Given the description of an element on the screen output the (x, y) to click on. 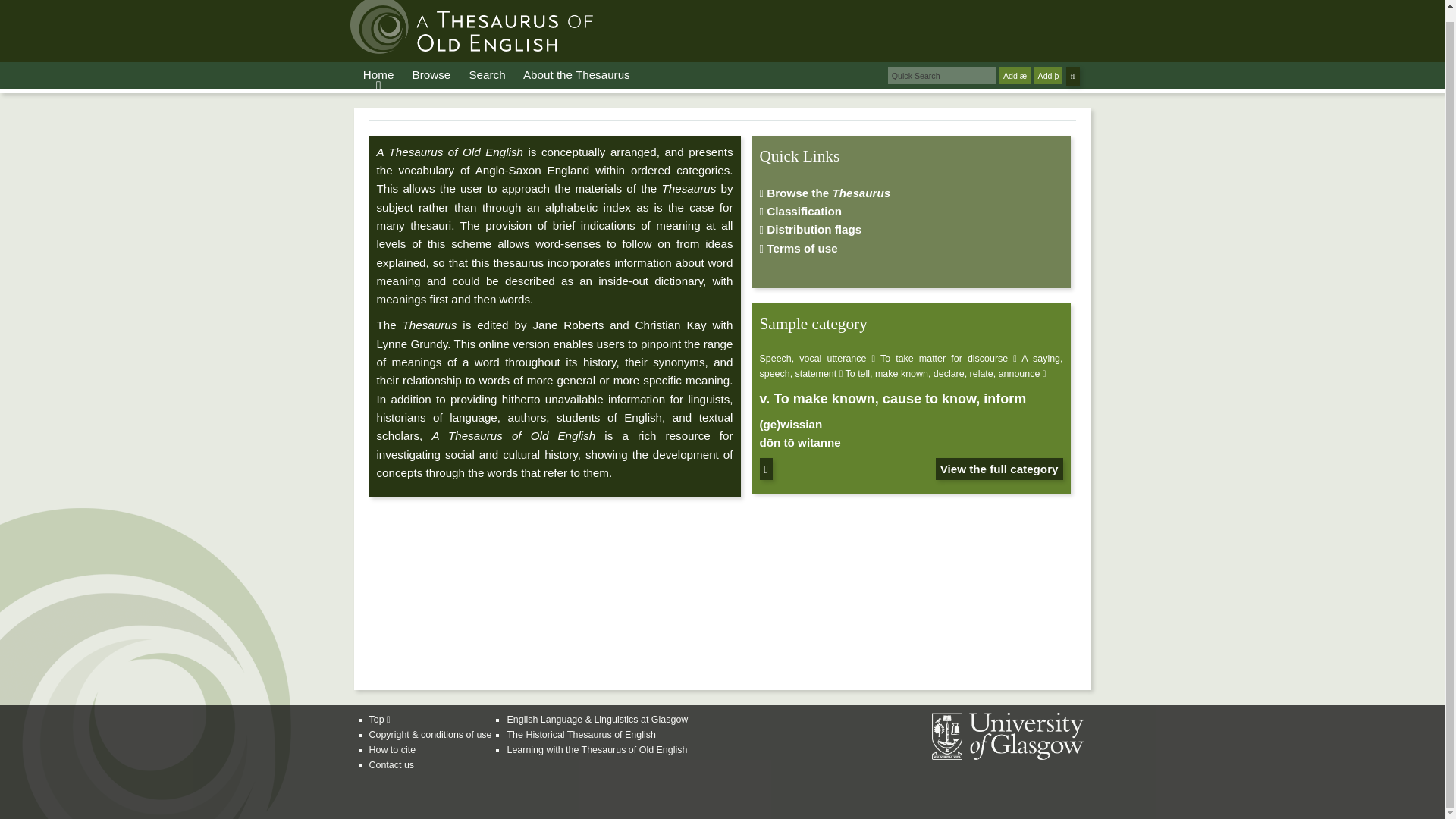
Browse (431, 74)
Browse the Thesaurus (825, 192)
Quick Search (941, 75)
To take matter for discourse (943, 357)
v. To make known, cause to know, inform (893, 398)
Learning with the Thesaurus of Old English (596, 749)
Top (379, 719)
How to cite (391, 749)
Home (378, 74)
Classification (801, 210)
